Given the description of an element on the screen output the (x, y) to click on. 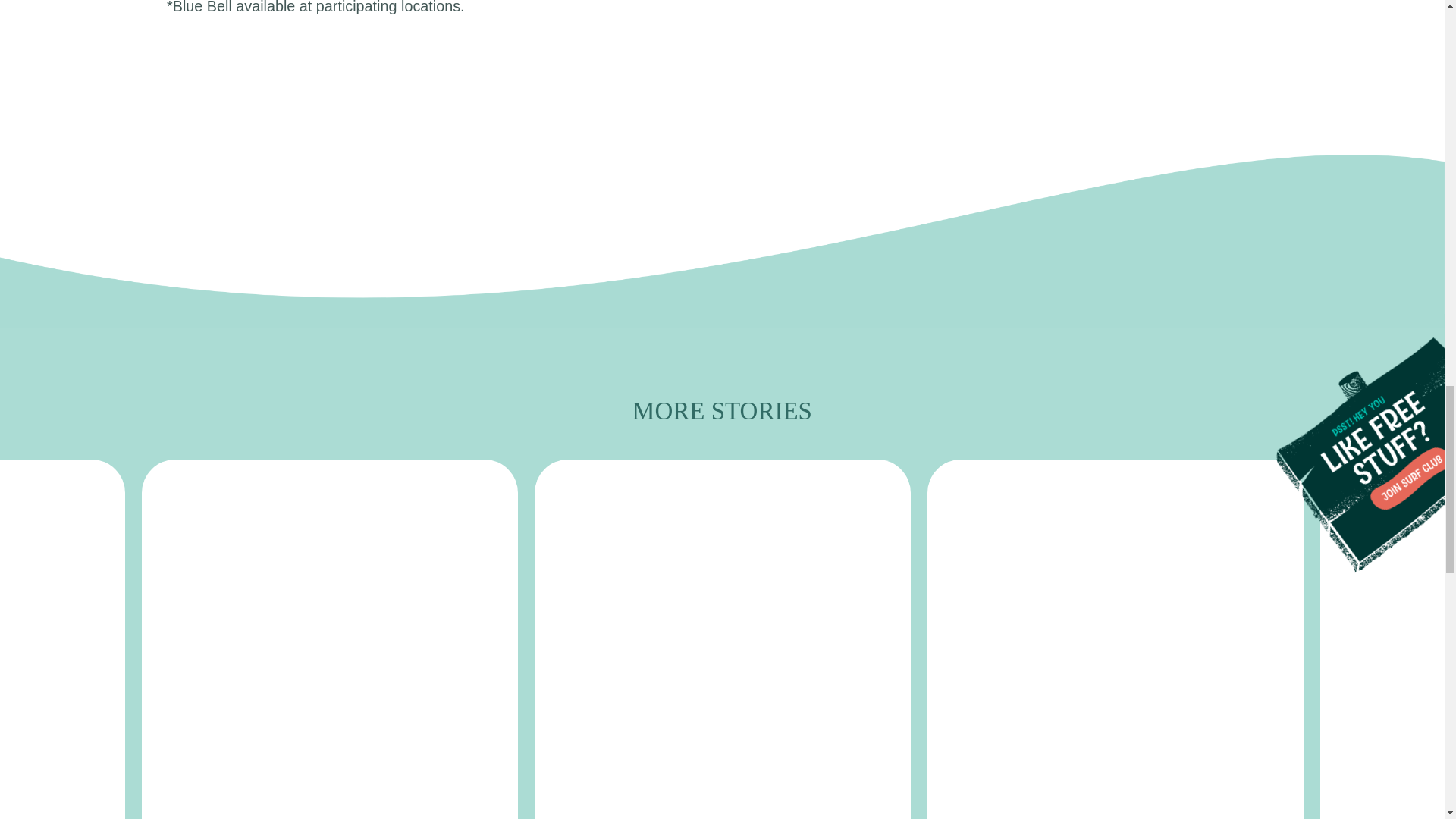
next slide (1402, 672)
previous slide (41, 672)
